Given the description of an element on the screen output the (x, y) to click on. 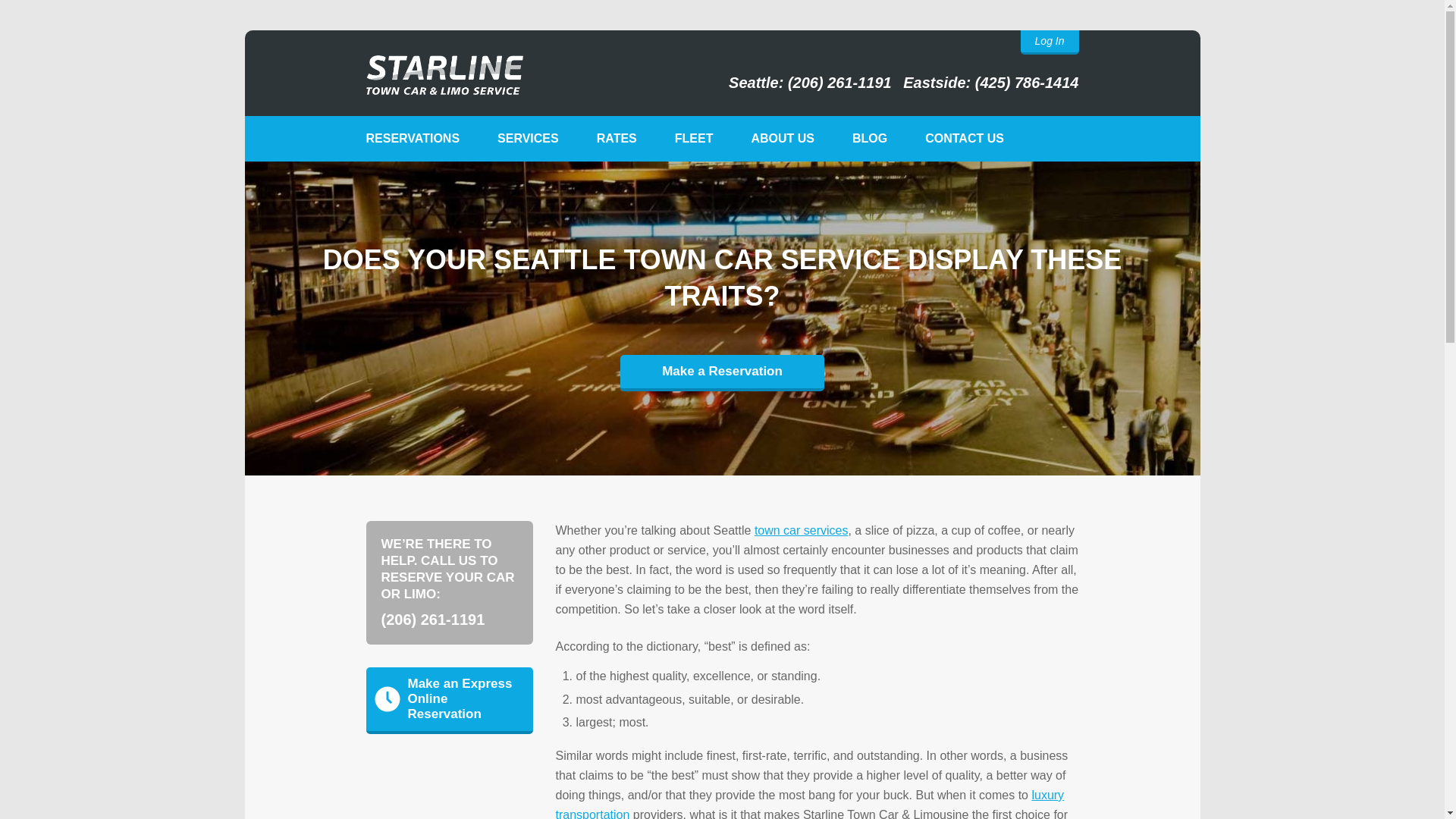
ABOUT US (782, 138)
town car services (801, 530)
CONTACT US (964, 138)
RESERVATIONS (412, 138)
Make a Reservation (722, 372)
BLOG (868, 138)
RATES (616, 138)
SERVICES (528, 138)
Log In (1049, 42)
Make an Express Online Reservation (448, 700)
